Given the description of an element on the screen output the (x, y) to click on. 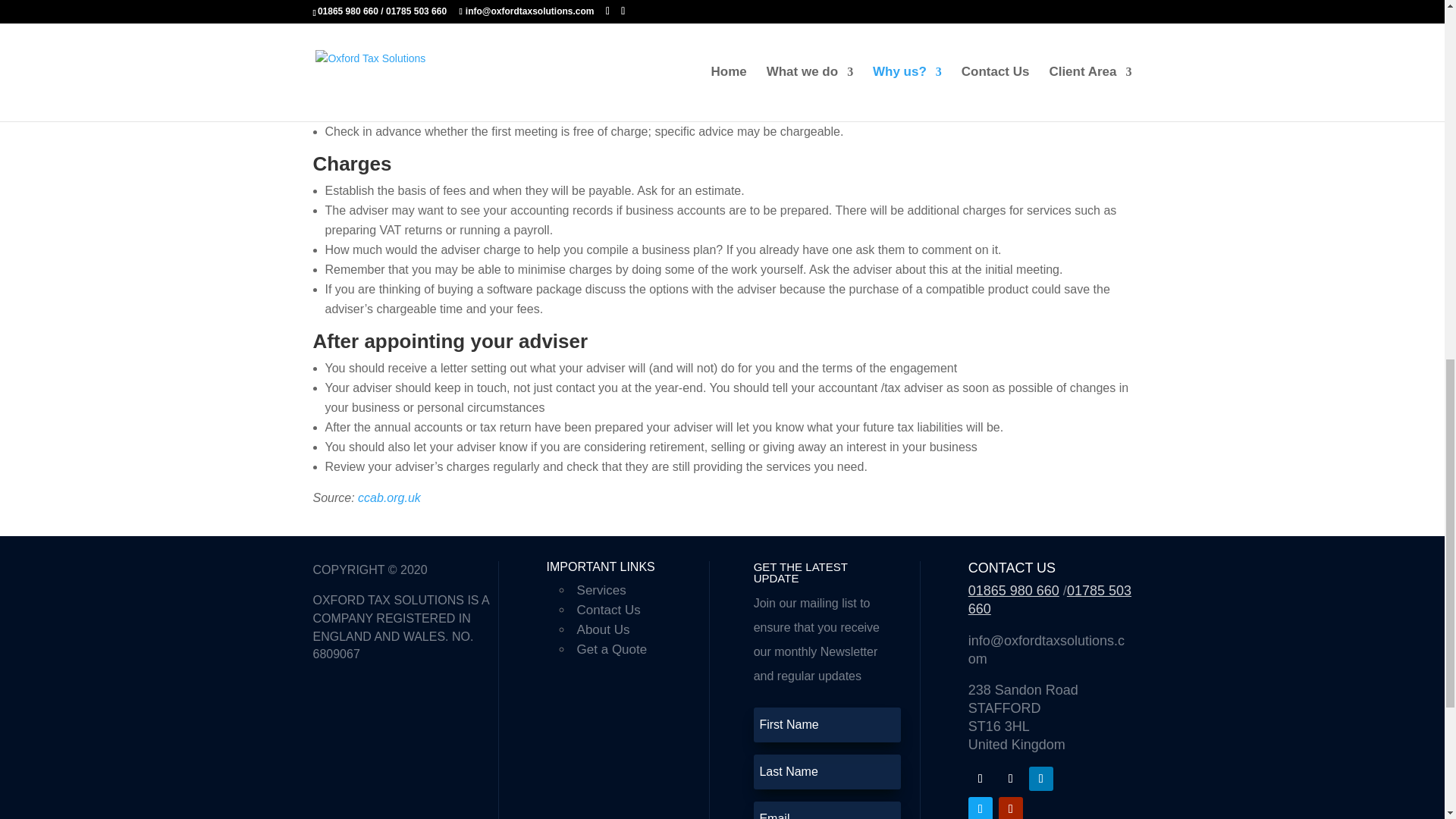
Follow on Youtube (1010, 807)
Follow on skype (980, 807)
Services (601, 590)
Follow on LinkedIn (1040, 778)
Follow on Facebook (980, 778)
Follow on X (1010, 778)
